Given the description of an element on the screen output the (x, y) to click on. 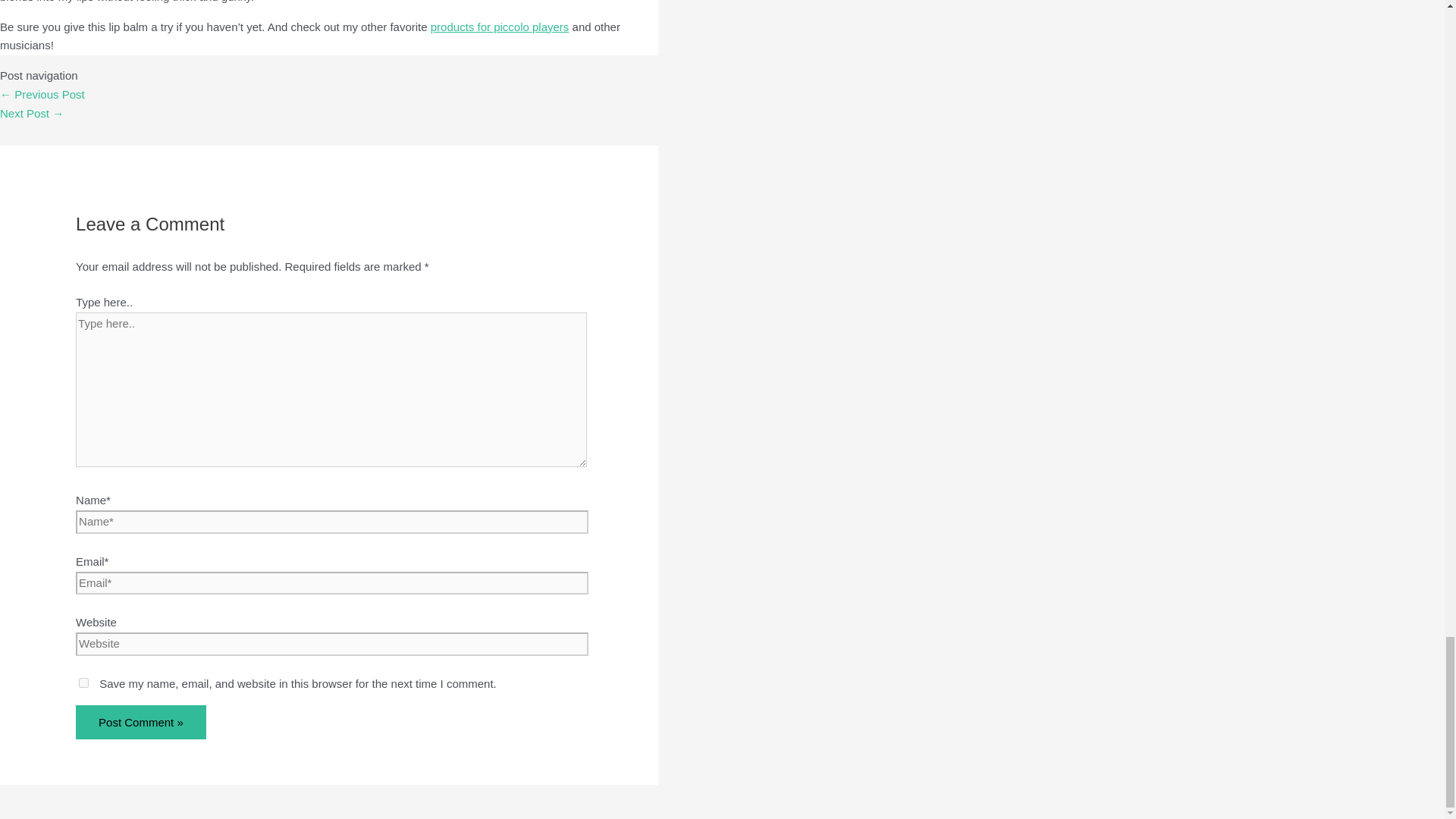
products for piccolo players (499, 26)
yes (83, 682)
7 Piccolo Resources for College Flute Players (42, 93)
Is Piccolo Harder Than Flute? (32, 113)
